Given the description of an element on the screen output the (x, y) to click on. 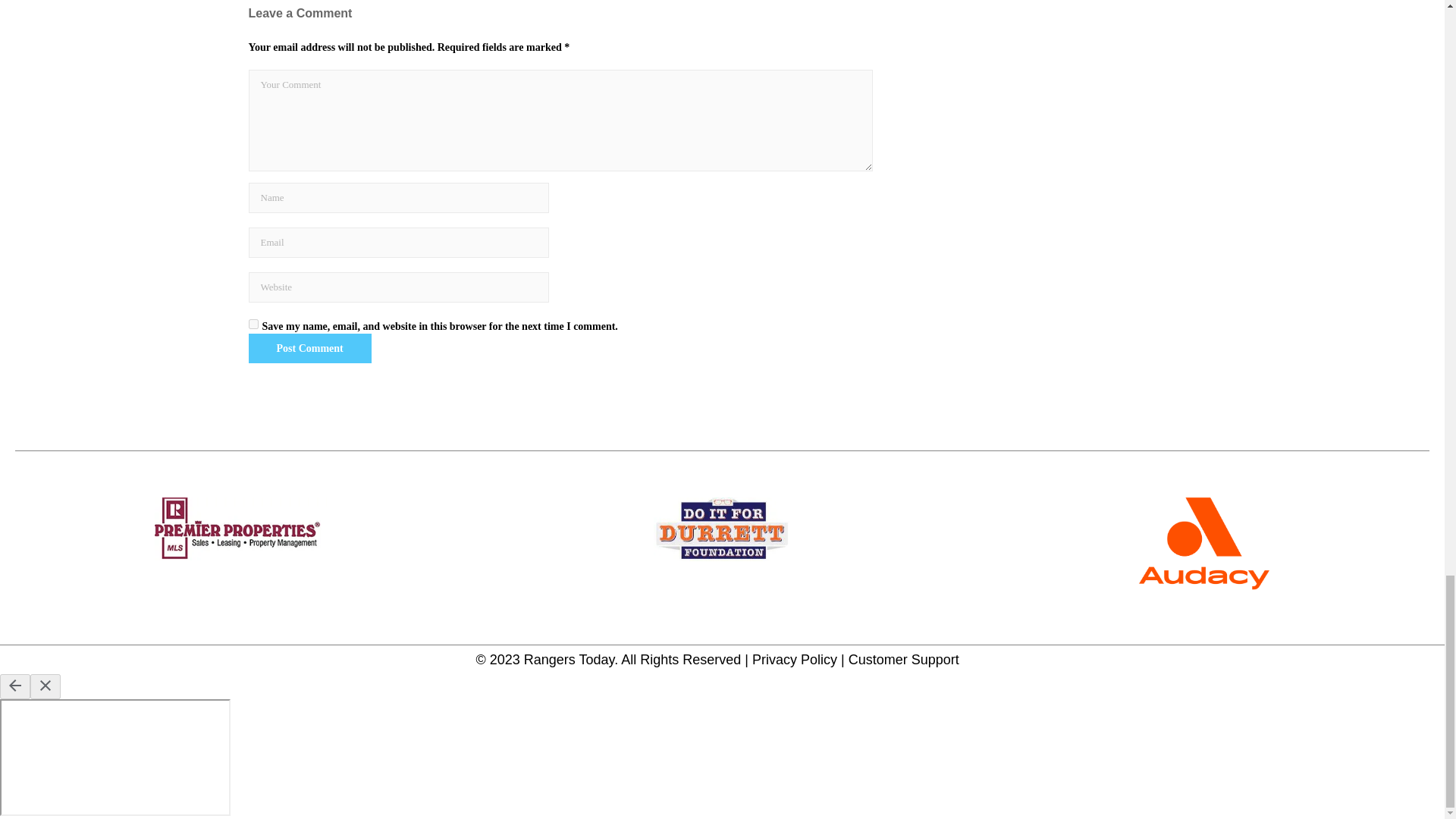
Post Comment (309, 348)
yes (253, 324)
